Given the description of an element on the screen output the (x, y) to click on. 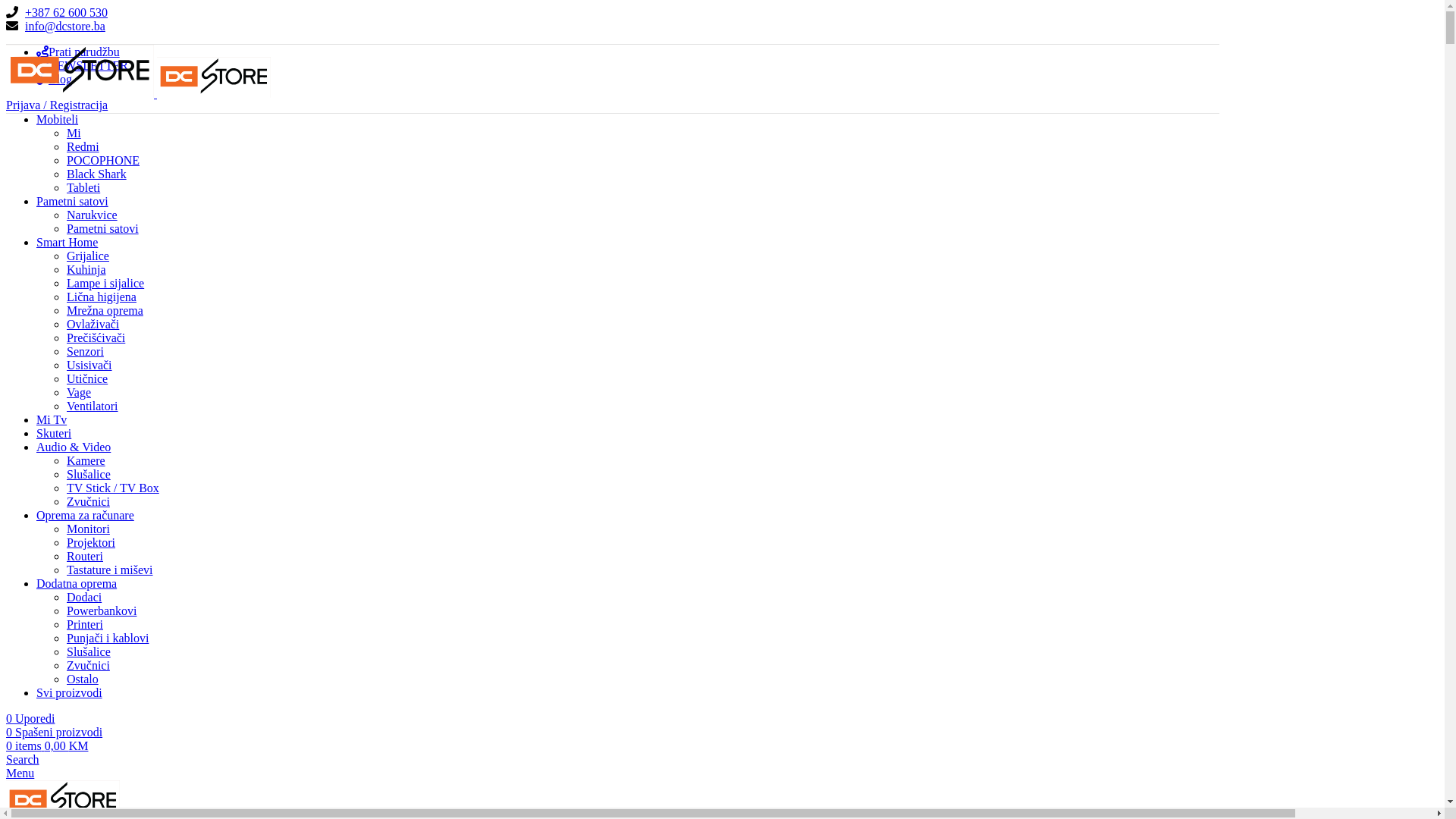
Audio & Video Element type: text (73, 446)
Ostalo Element type: text (82, 678)
Svi proizvodi Element type: text (69, 692)
Dodatna oprema Element type: text (76, 583)
Monitori Element type: text (87, 528)
Redmi Element type: text (82, 146)
info@dcstore.ba Element type: text (65, 25)
Prijava / Registracija Element type: text (56, 104)
Dodaci Element type: text (83, 596)
Pametni satovi Element type: text (72, 200)
0 items 0,00 KM Element type: text (46, 745)
Mi Tv Element type: text (51, 419)
Menu Element type: text (20, 772)
Routeri Element type: text (84, 555)
Kamere Element type: text (85, 460)
Printeri Element type: text (84, 624)
Ventilatori Element type: text (92, 405)
Mi Element type: text (73, 132)
Blog Element type: text (54, 78)
POCOPHONE Element type: text (102, 159)
NEWSLETTER Element type: text (82, 65)
TV Stick / TV Box Element type: text (112, 487)
Senzori Element type: text (84, 351)
Narukvice Element type: text (91, 214)
Kuhinja Element type: text (86, 269)
Projektori Element type: text (90, 542)
Search Element type: text (22, 759)
Grijalice Element type: text (87, 255)
Skuteri Element type: text (53, 432)
+387 62 600 530 Element type: text (66, 12)
Vage Element type: text (78, 391)
Black Shark Element type: text (96, 173)
Mobiteli Element type: text (57, 118)
Pametni satovi Element type: text (102, 228)
Lampe i sijalice Element type: text (105, 282)
Tableti Element type: text (83, 187)
Powerbankovi Element type: text (101, 610)
0 Uporedi Element type: text (30, 718)
Smart Home Element type: text (66, 241)
